Given the description of an element on the screen output the (x, y) to click on. 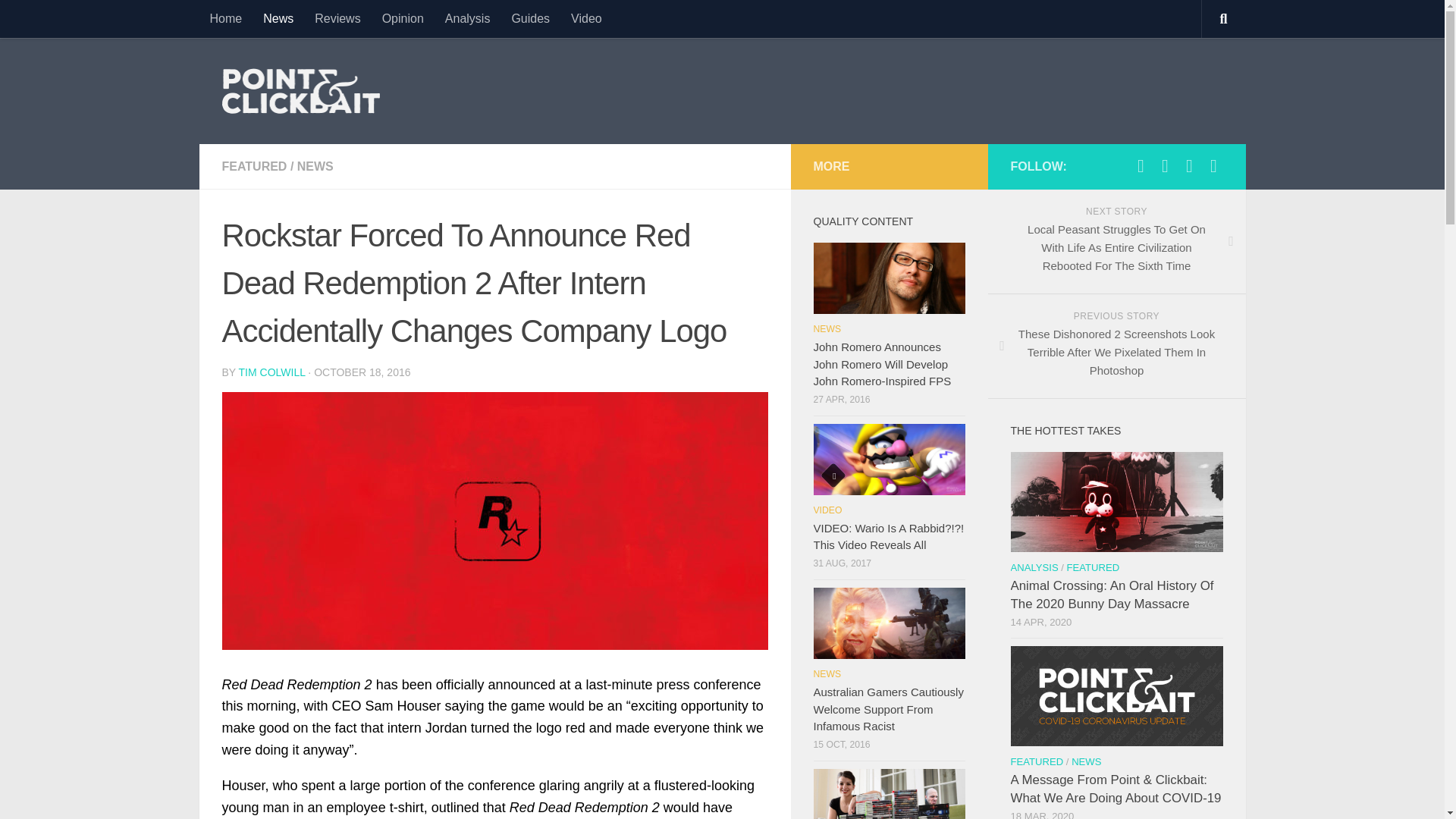
Opinion (402, 18)
Guides (530, 18)
Skip to content (63, 20)
NEWS (315, 165)
Reviews (337, 18)
Analysis (466, 18)
Facebook (1188, 166)
Twitter (1140, 166)
TIM COLWILL (271, 372)
RSS (1164, 166)
Video (586, 18)
News (277, 18)
Home (224, 18)
